Given the description of an element on the screen output the (x, y) to click on. 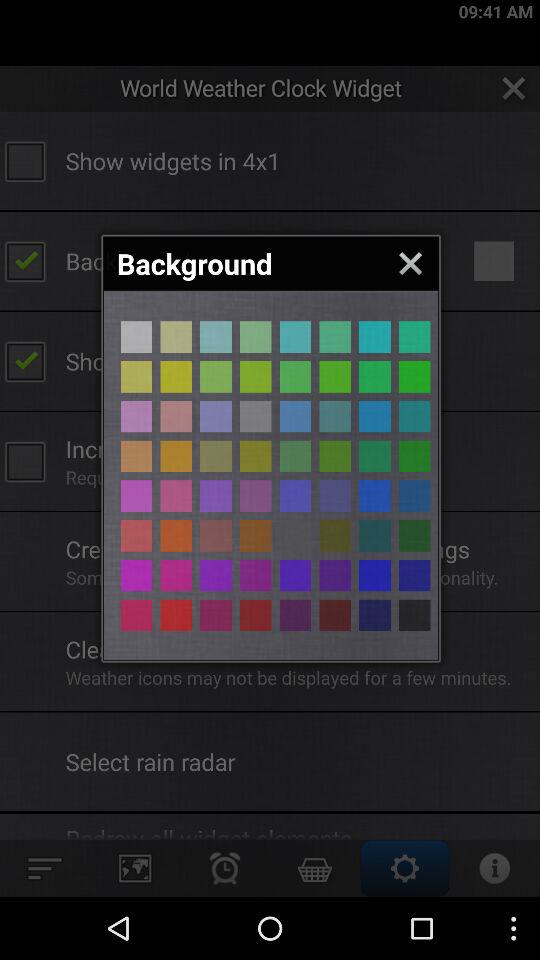
lilac background (136, 416)
